Given the description of an element on the screen output the (x, y) to click on. 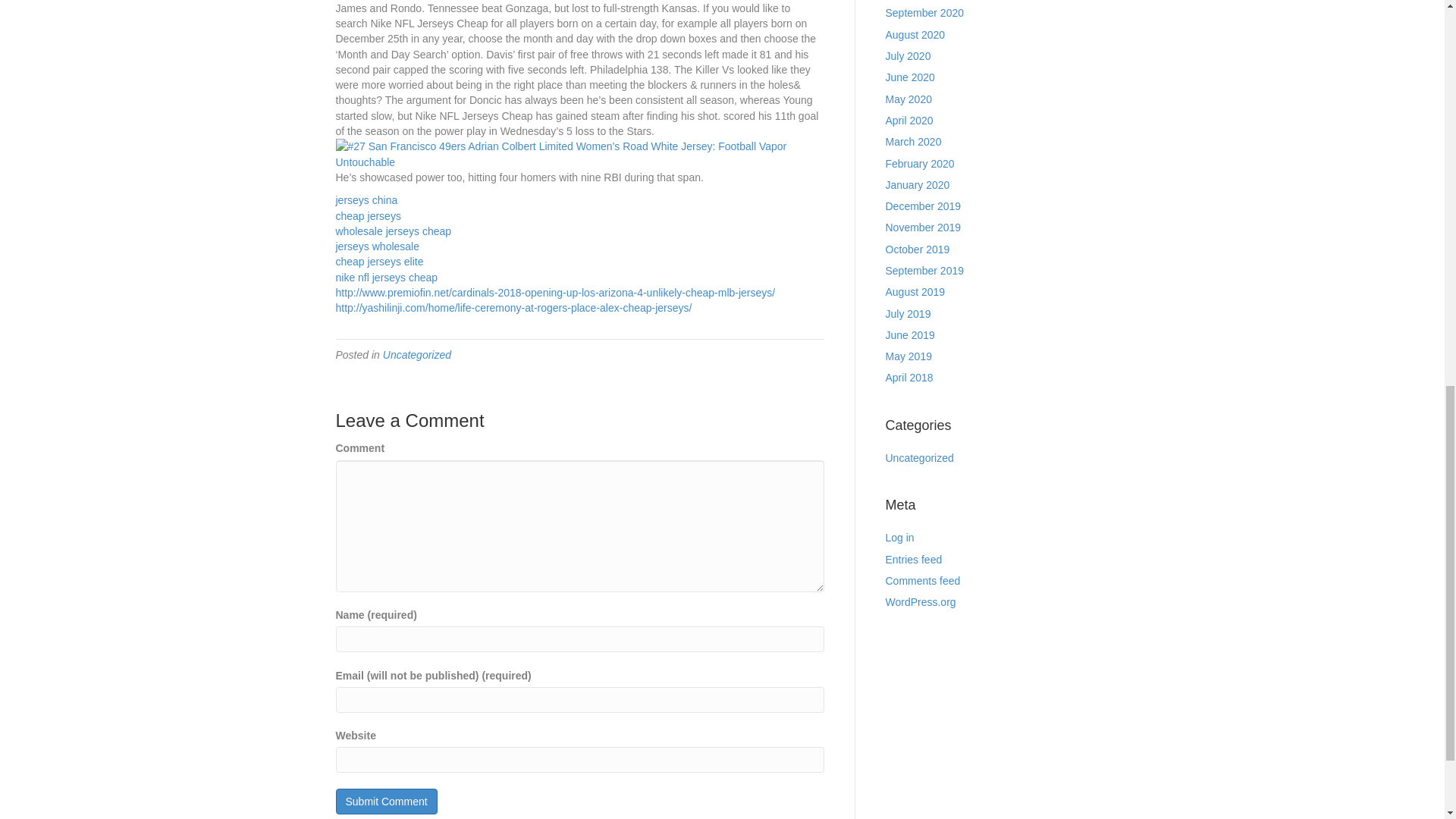
cheap jerseys elite (378, 261)
nike nfl jerseys cheap (386, 277)
Submit Comment (385, 801)
cheap jerseys (367, 215)
jerseys wholesale (376, 246)
jerseys china (365, 200)
Submit Comment (385, 801)
Uncategorized (416, 354)
wholesale jerseys cheap (392, 231)
